Given the description of an element on the screen output the (x, y) to click on. 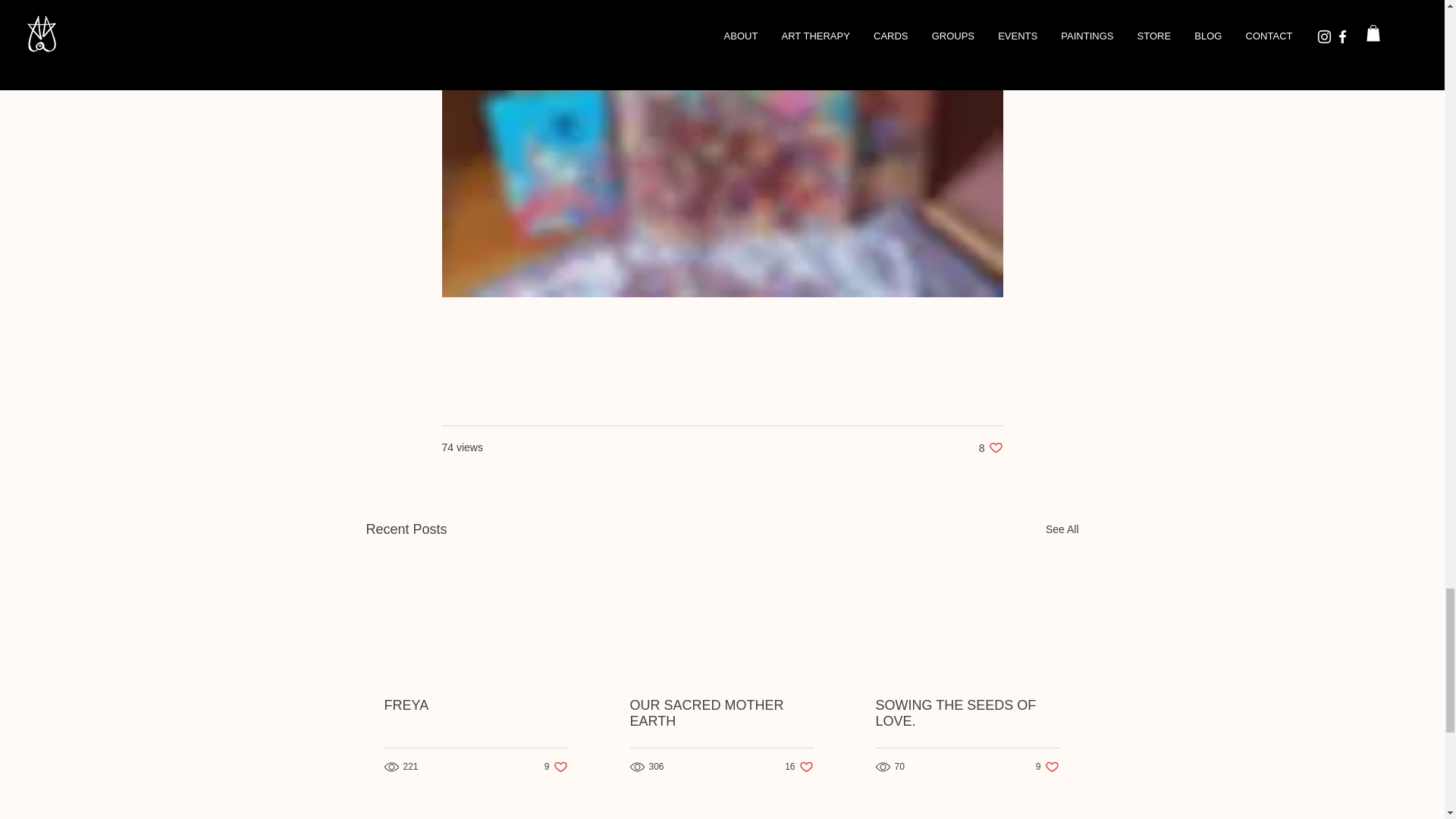
OUR SACRED MOTHER EARTH (1047, 766)
See All (720, 713)
FREYA (555, 766)
SOWING THE SEEDS OF LOVE. (1061, 529)
